Given the description of an element on the screen output the (x, y) to click on. 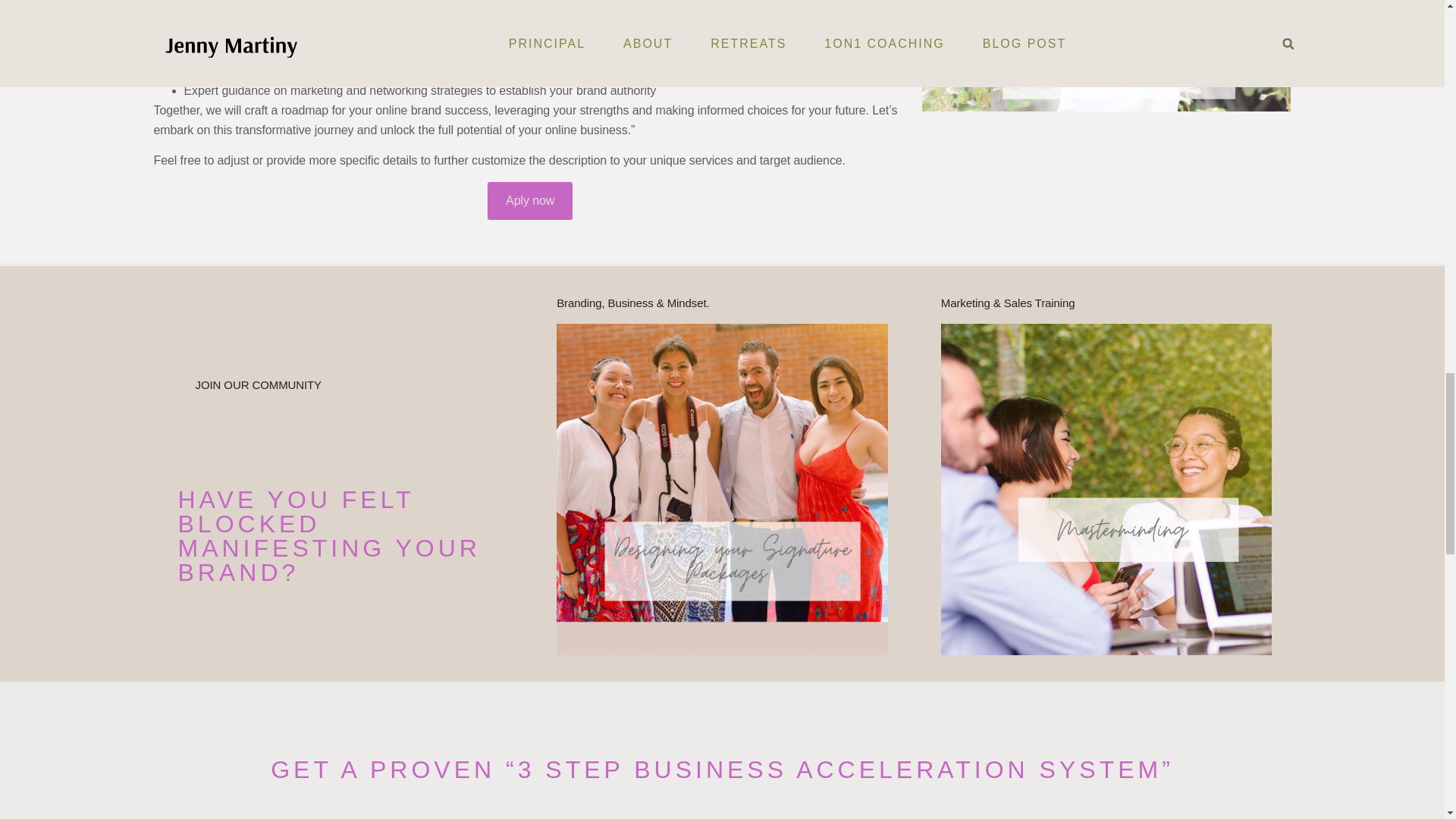
Aply now (529, 200)
